Given the description of an element on the screen output the (x, y) to click on. 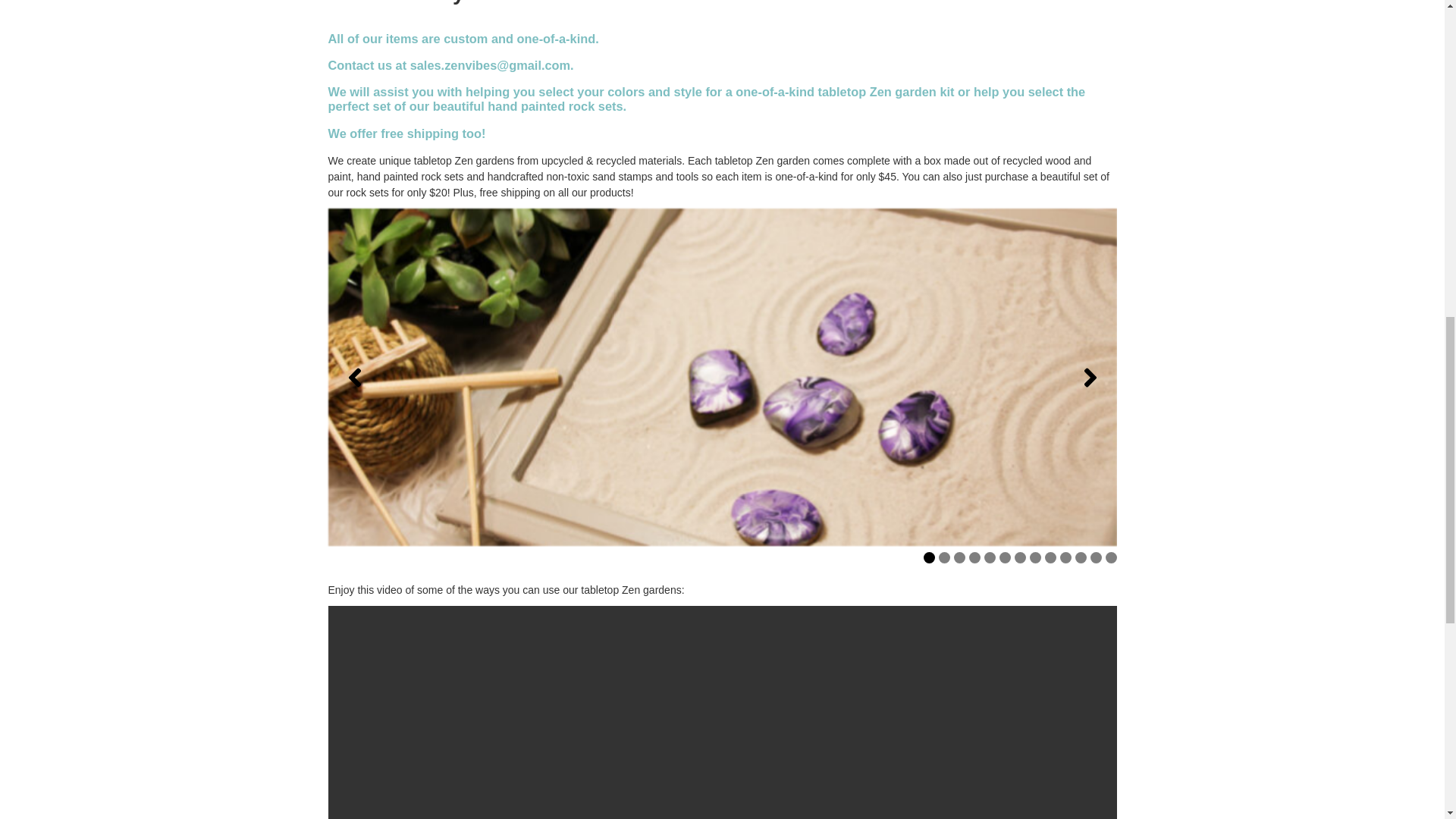
3 (959, 557)
2 (944, 557)
5 (989, 557)
13 (1110, 557)
4 (974, 557)
1 (928, 557)
12 (1096, 557)
10 (1065, 557)
6 (1004, 557)
7 (1020, 557)
